Given the description of an element on the screen output the (x, y) to click on. 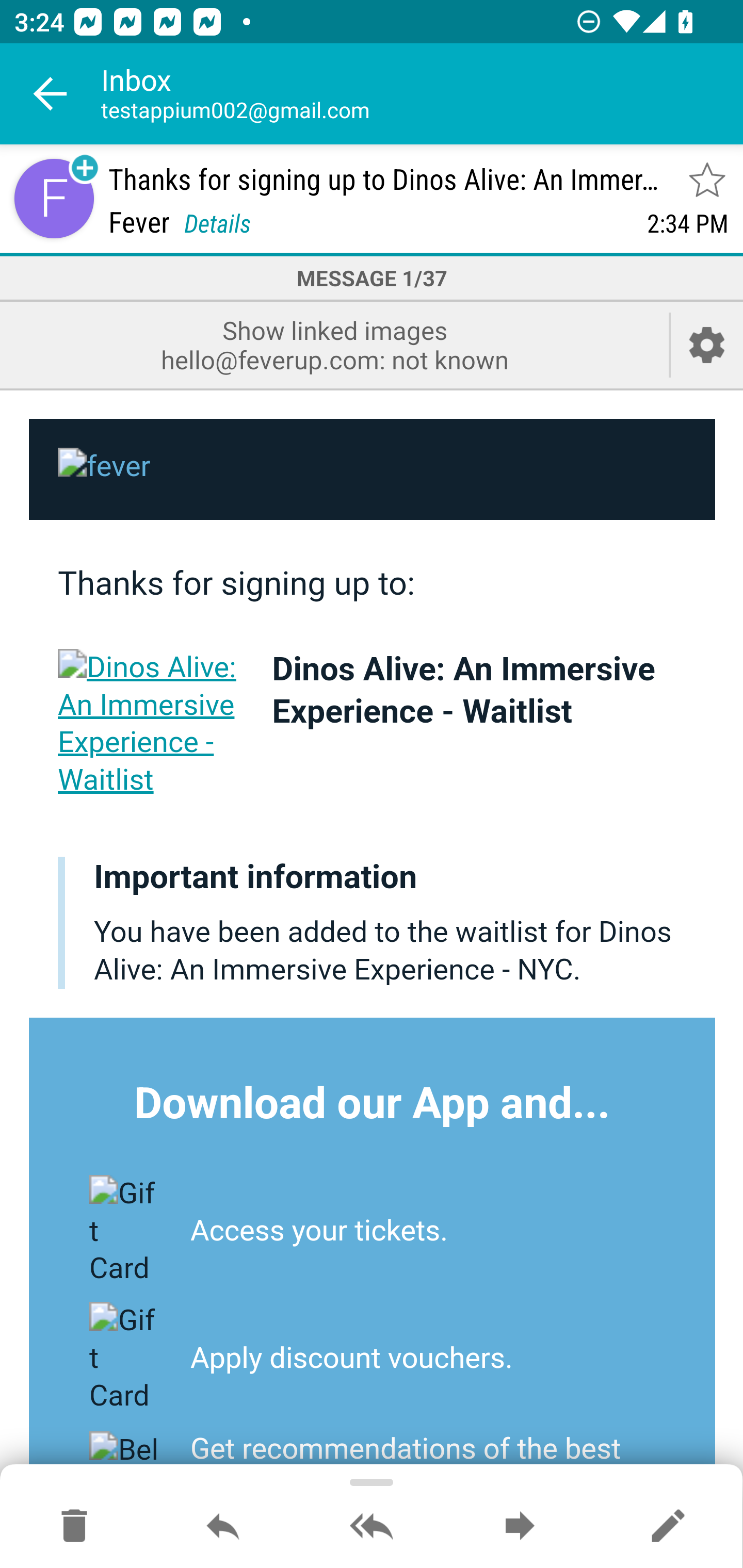
Navigate up (50, 93)
Inbox testappium002@gmail.com (422, 93)
Sender contact button (53, 198)
Show linked images
hello@feverup.com: not known (334, 344)
Account setup (706, 344)
fever (372, 470)
Dinos Alive: An Immersive Experience - Waitlist (150, 723)
Dinos Alive: An Immersive Experience - Waitlist (463, 689)
Move to Deleted (74, 1527)
Reply (222, 1527)
Reply all (371, 1527)
Forward (519, 1527)
Reply as new (667, 1527)
